Given the description of an element on the screen output the (x, y) to click on. 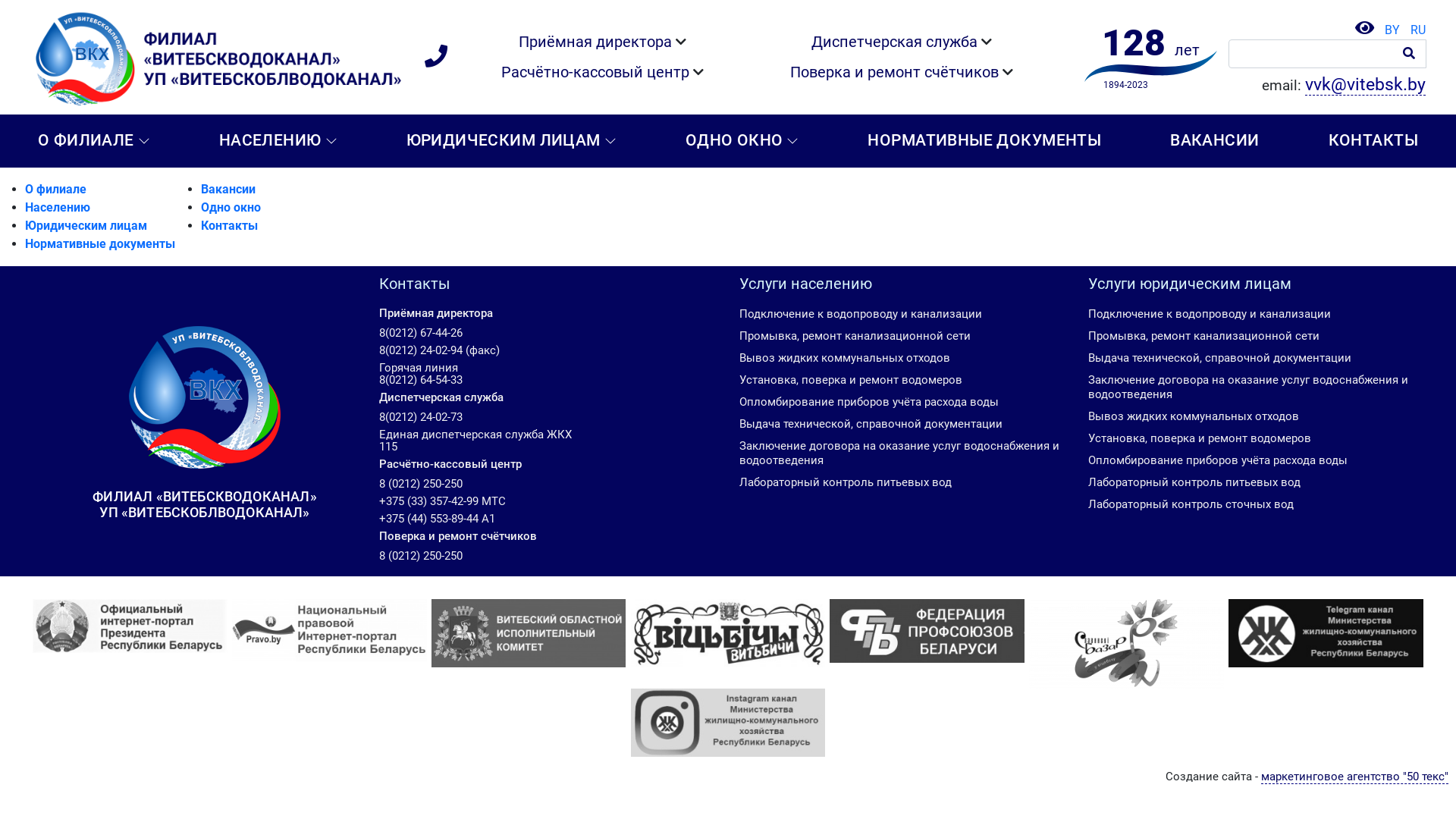
vvk@vitebsk.by Element type: text (1365, 84)
RU Element type: text (1413, 29)
BY Element type: text (1388, 29)
